Given the description of an element on the screen output the (x, y) to click on. 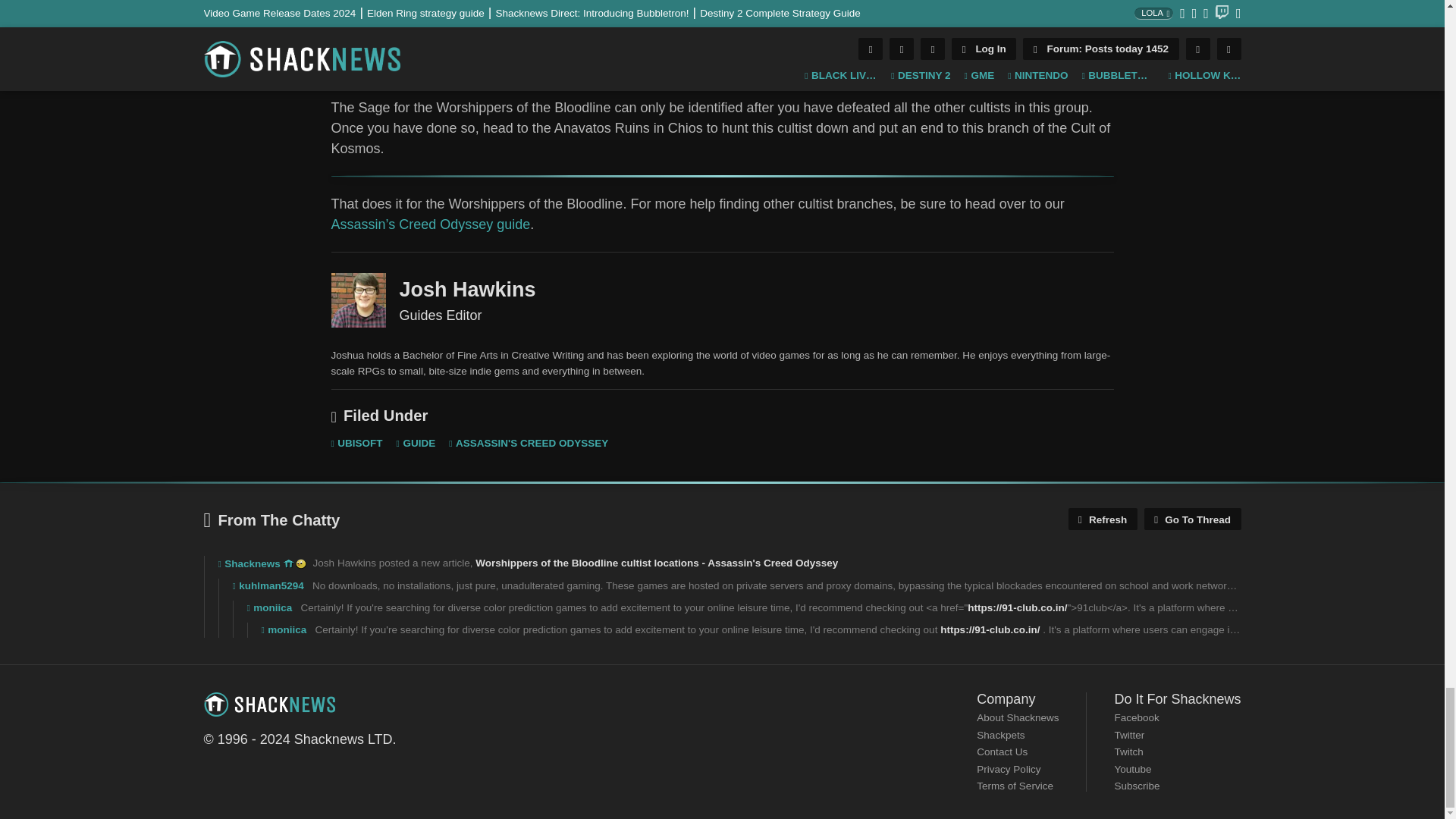
legacy 20 years (300, 563)
Assassin's Creed Odyssey - Iokaste the Seer location (722, 38)
Guides Editor (357, 299)
legacy 10 years (288, 563)
